Given the description of an element on the screen output the (x, y) to click on. 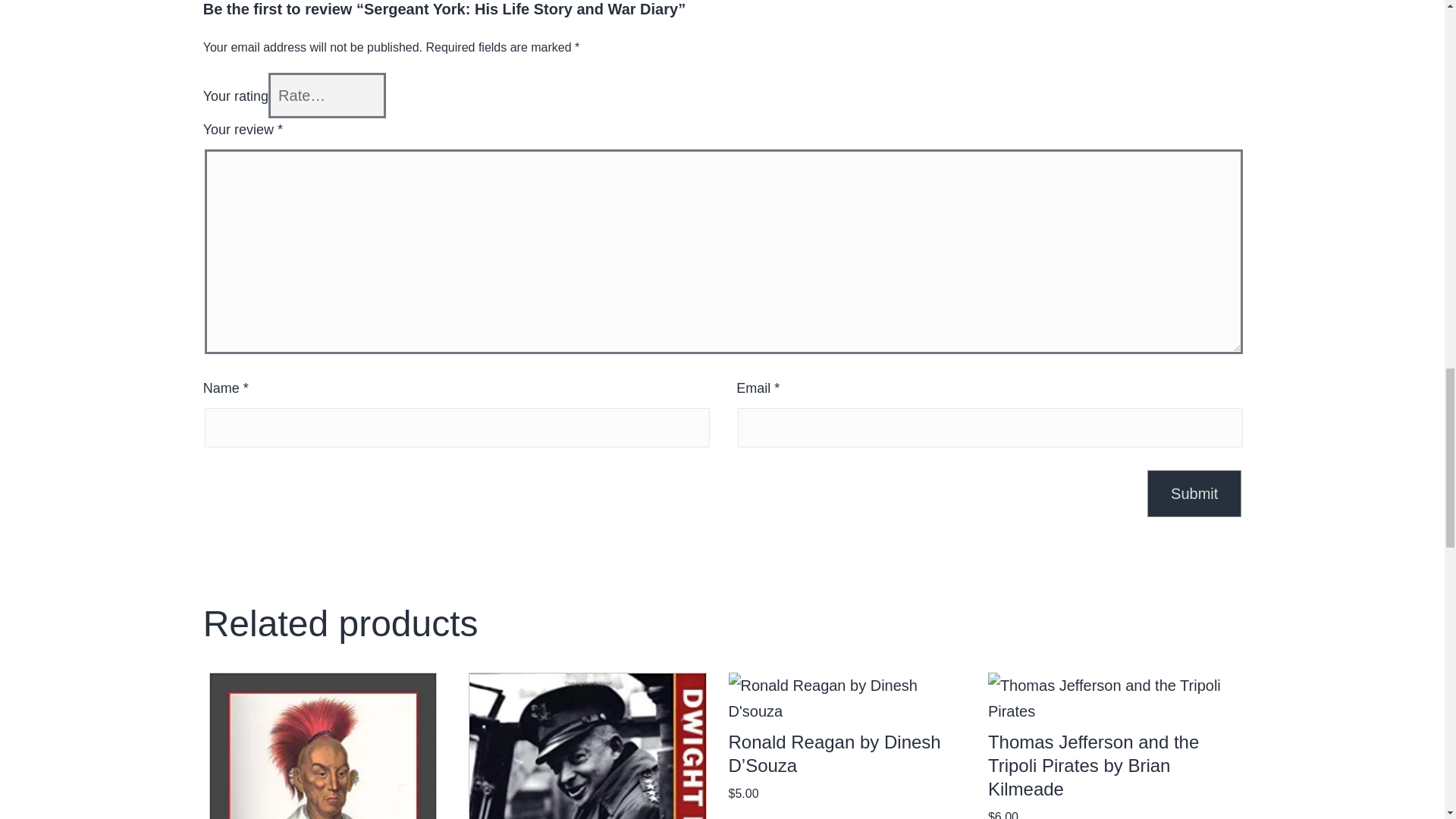
Submit (1194, 493)
Life of Black Hawk (322, 745)
Submit (1194, 493)
